Given the description of an element on the screen output the (x, y) to click on. 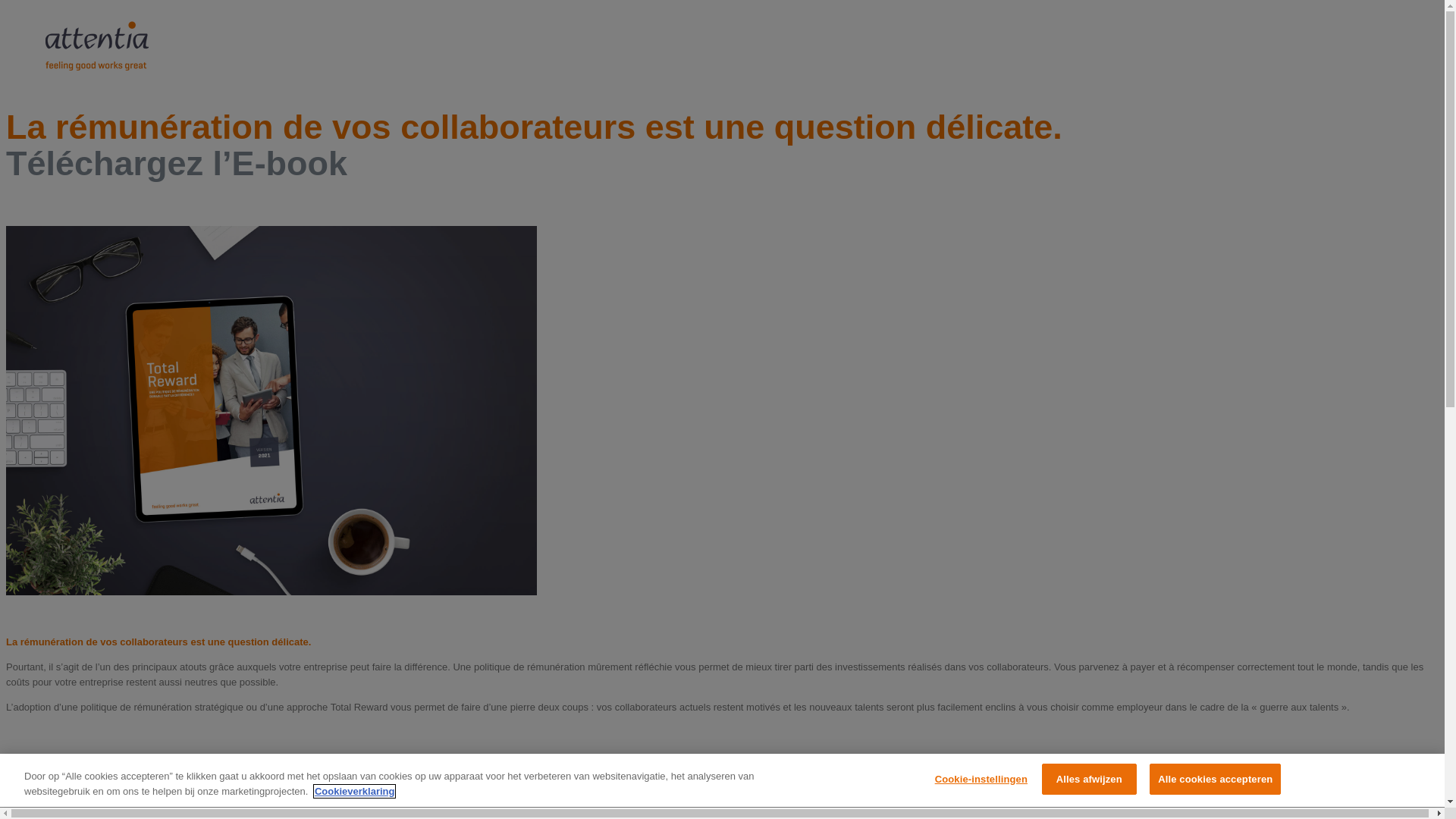
Alles afwijzen Element type: text (1088, 779)
Cookieverklaring Element type: text (354, 791)
Alle cookies accepteren Element type: text (1214, 779)
Cookie-instellingen Element type: text (980, 779)
